Given the description of an element on the screen output the (x, y) to click on. 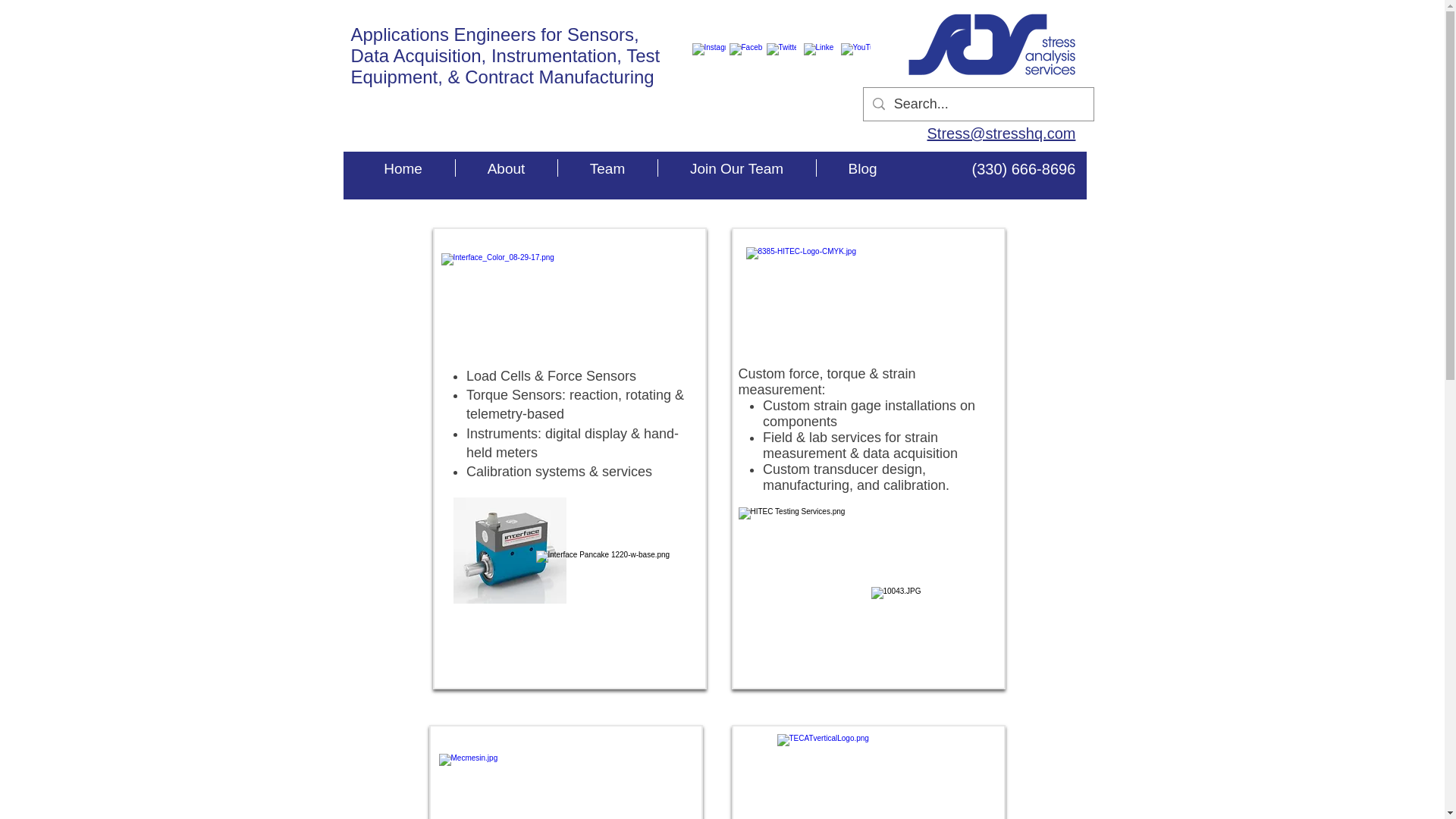
Home (403, 167)
About (505, 167)
Join Our Team (736, 167)
Team (607, 167)
Blog (861, 167)
